Given the description of an element on the screen output the (x, y) to click on. 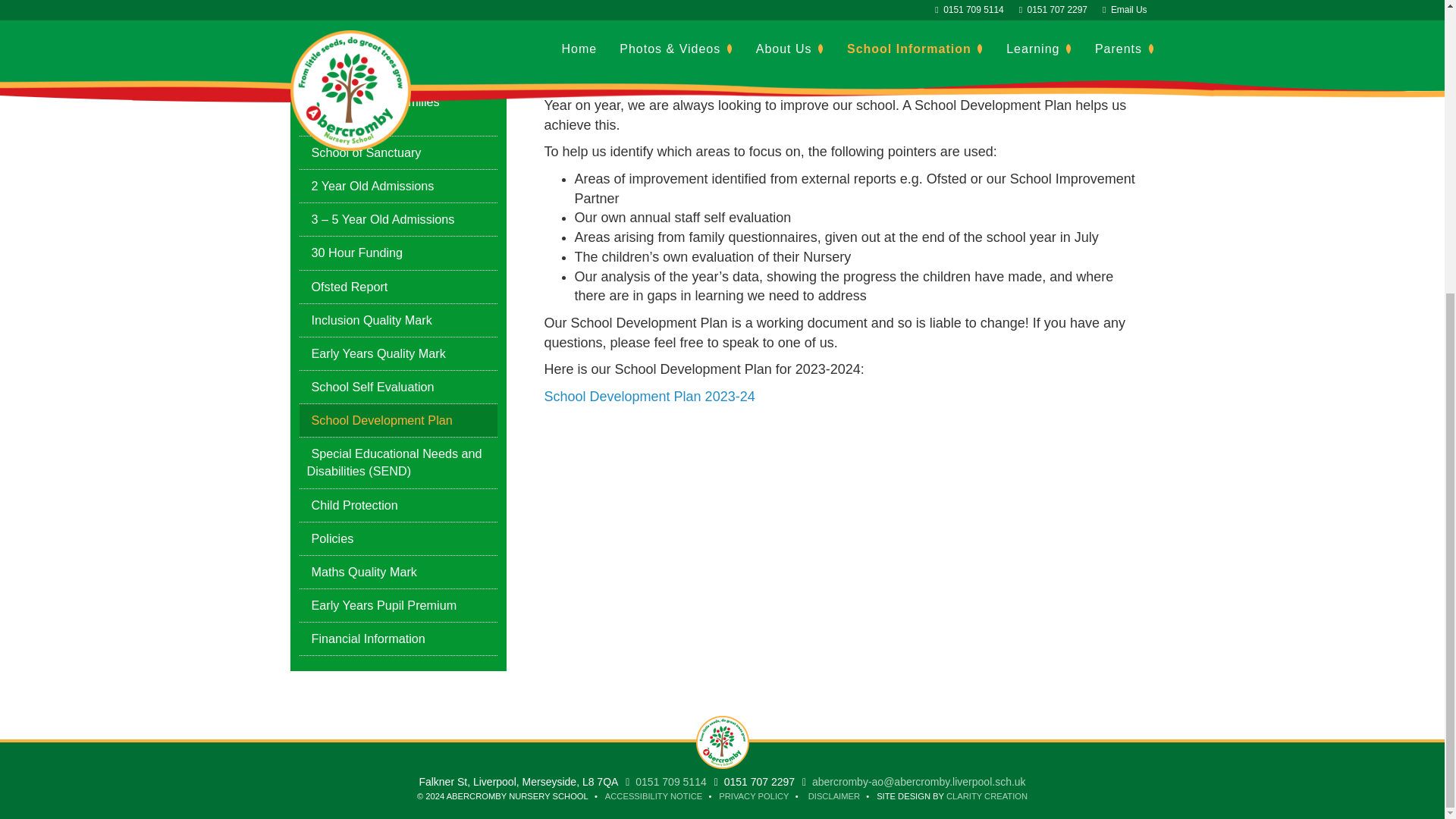
Site design by Clarity Creation (986, 795)
